Given the description of an element on the screen output the (x, y) to click on. 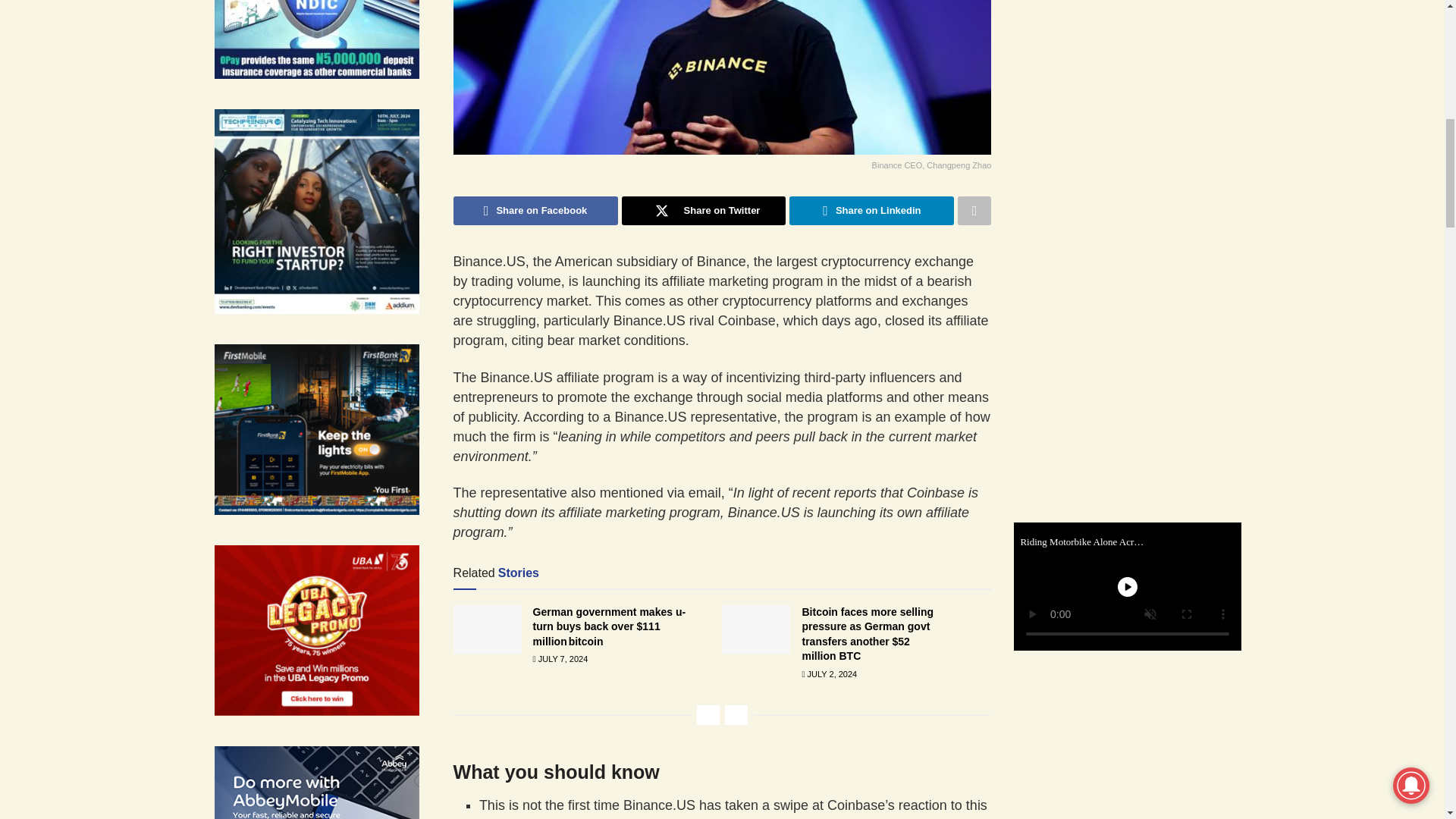
Previous (708, 714)
Advertisement (1138, 61)
Advertisement (1138, 253)
Next (736, 714)
